Given the description of an element on the screen output the (x, y) to click on. 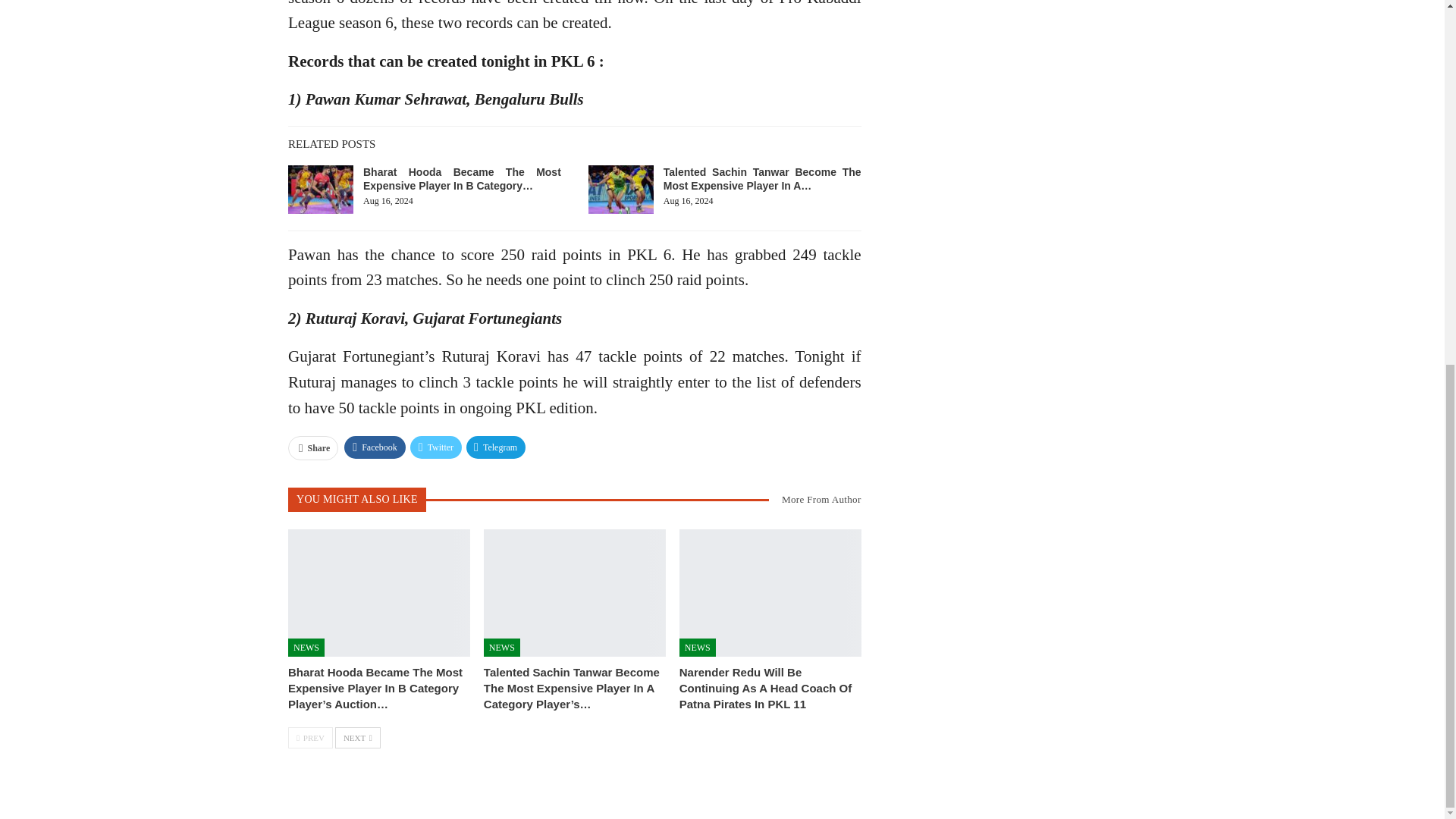
Previous (310, 737)
More From Author (814, 499)
Telegram (495, 446)
NEWS (697, 647)
Twitter (435, 446)
Next (357, 737)
NEWS (306, 647)
NEWS (501, 647)
